Given the description of an element on the screen output the (x, y) to click on. 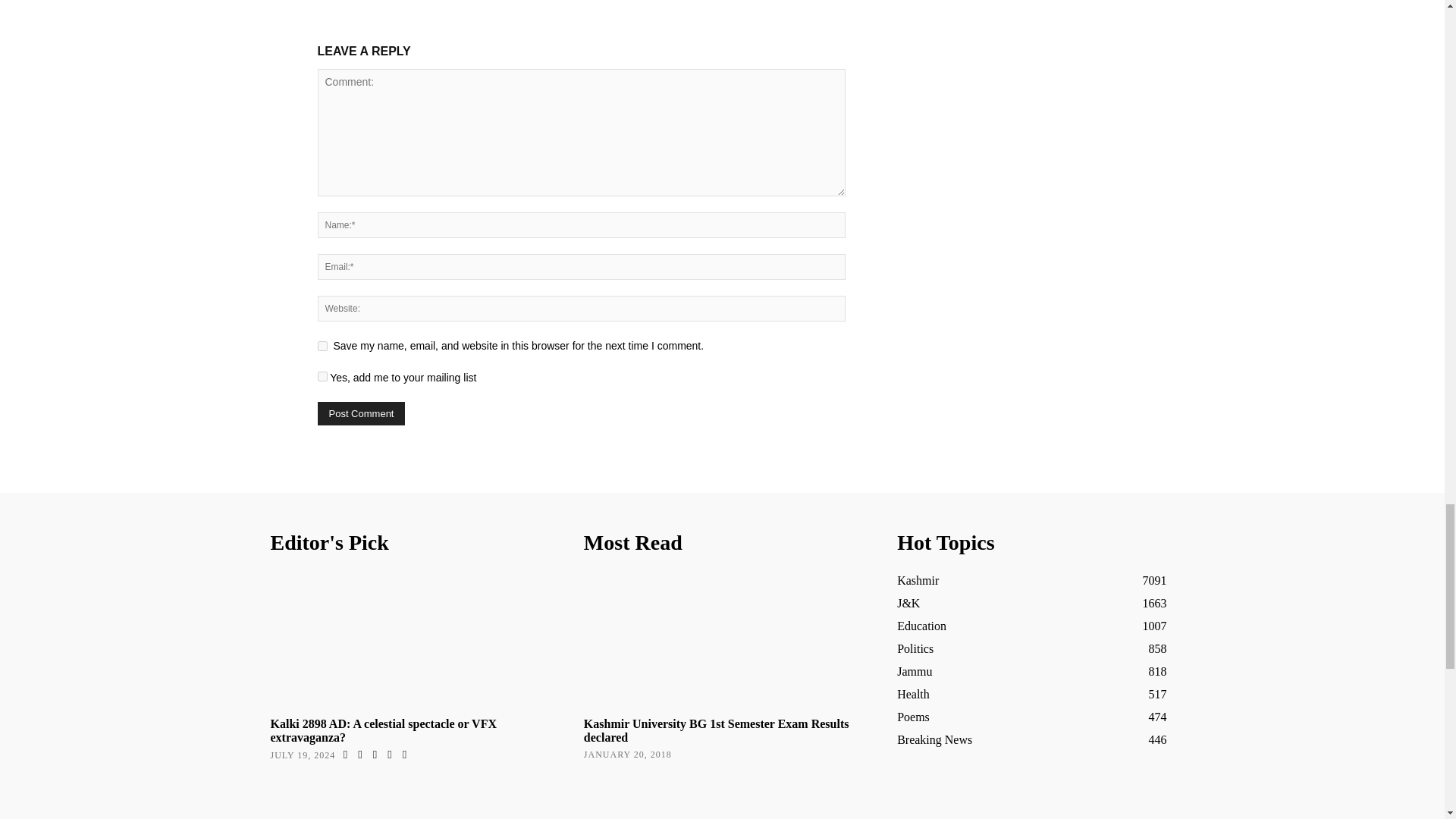
1 (321, 376)
yes (321, 346)
Post Comment (360, 413)
